Given the description of an element on the screen output the (x, y) to click on. 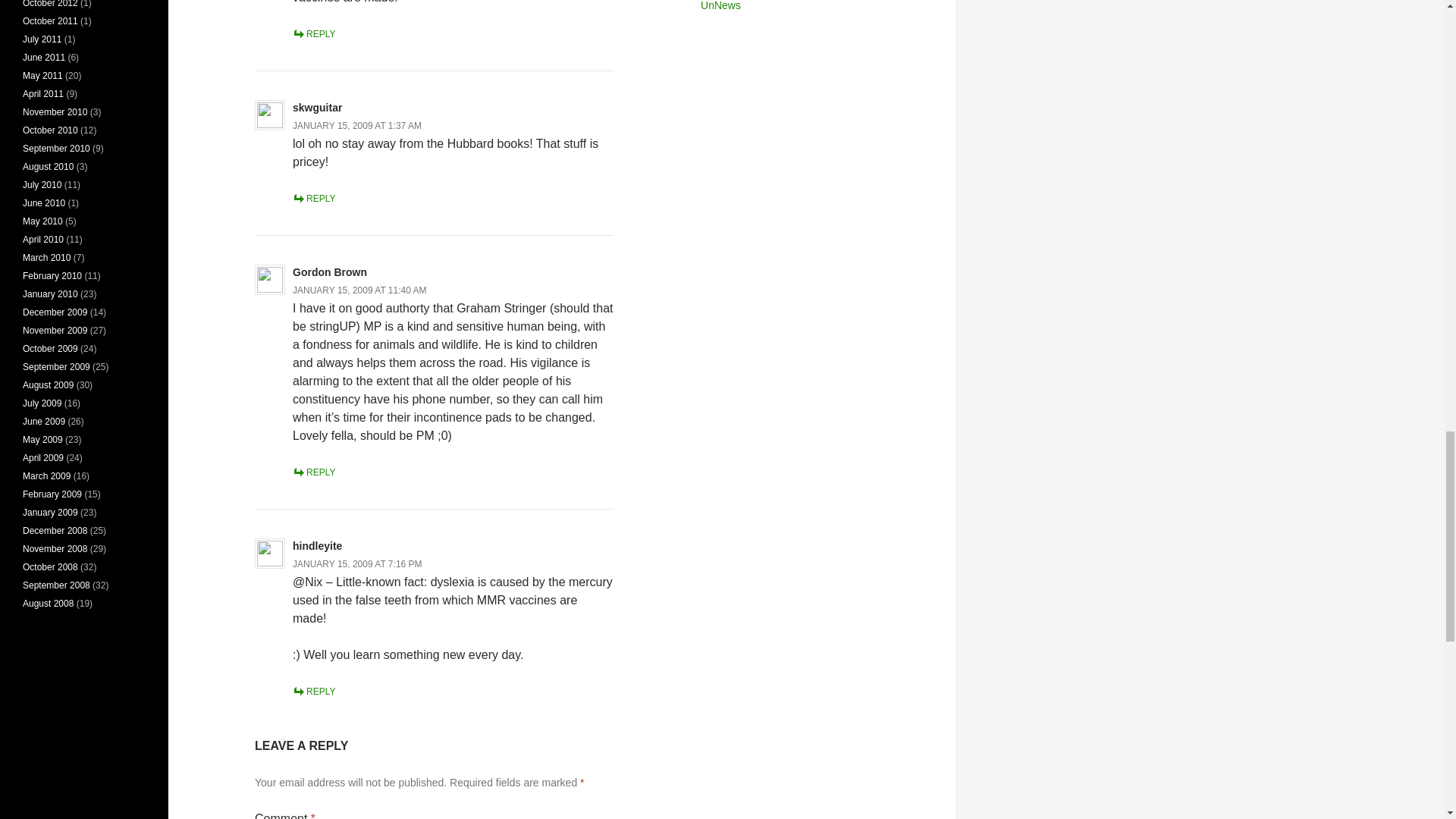
JANUARY 15, 2009 AT 1:37 AM (357, 125)
REPLY (313, 471)
JANUARY 15, 2009 AT 7:16 PM (357, 563)
REPLY (313, 198)
skwguitar (317, 107)
hindleyite (317, 545)
REPLY (313, 691)
JANUARY 15, 2009 AT 11:40 AM (359, 290)
Your source for up to the minute misinformation (720, 5)
REPLY (313, 33)
